Given the description of an element on the screen output the (x, y) to click on. 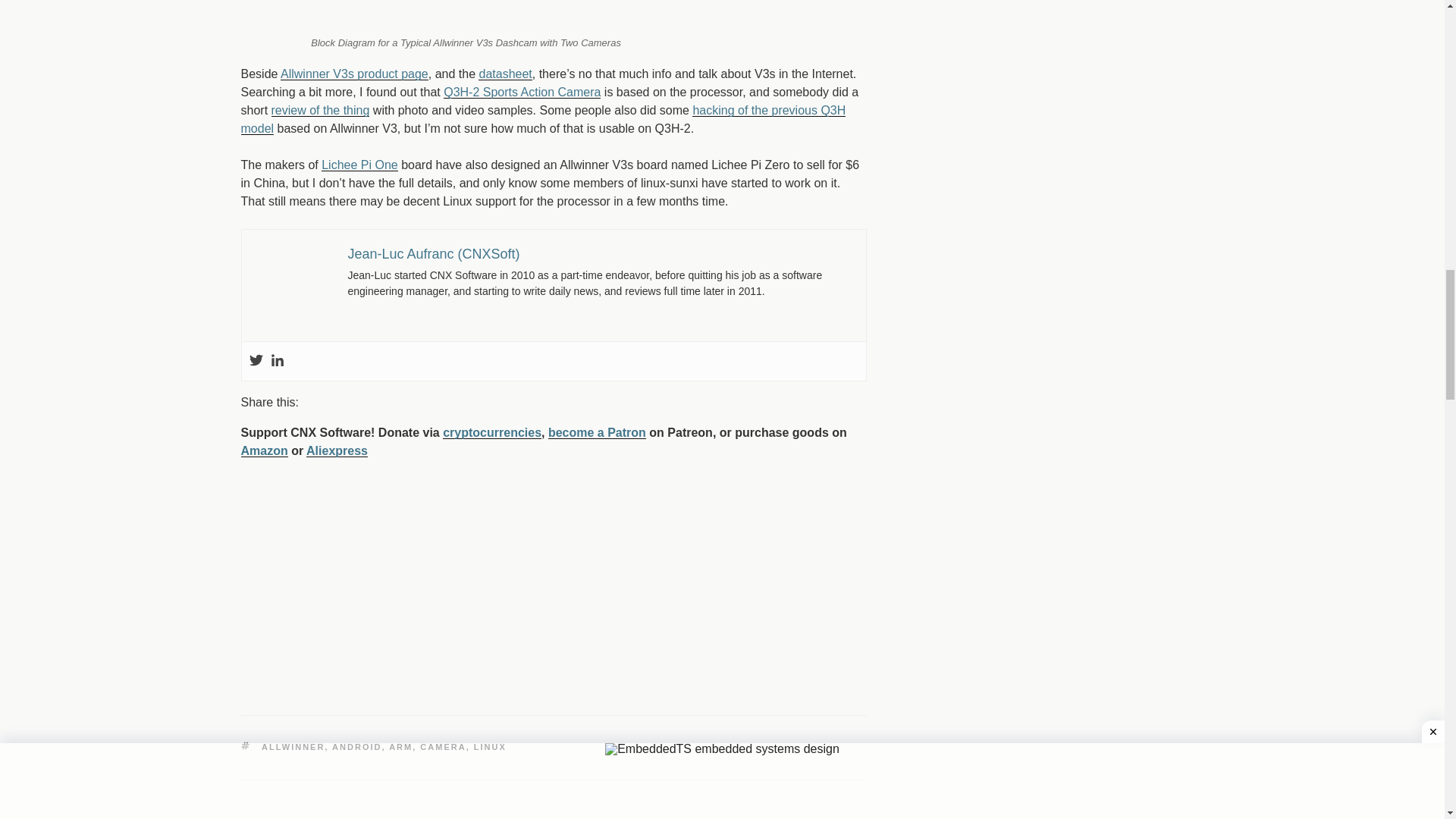
datasheet (505, 47)
hacking of the previous Q3H model (543, 92)
review of the thing (319, 83)
Allwinner V3s product page (354, 47)
Q3H-2 Sports Action Camera (521, 65)
Lichee Pi One (359, 137)
